Given the description of an element on the screen output the (x, y) to click on. 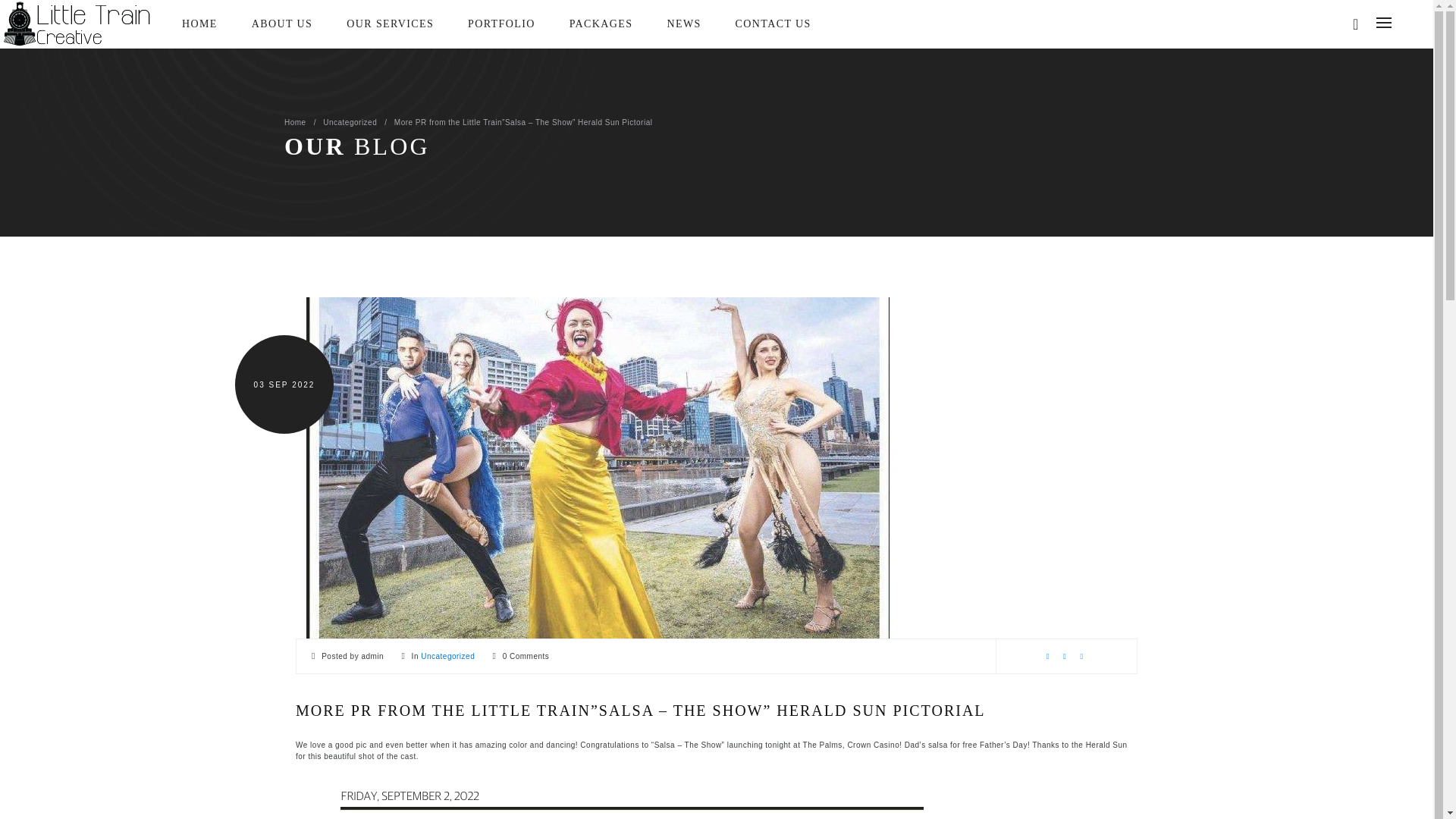
OUR SERVICES (389, 23)
Home (299, 121)
Uncategorized (447, 655)
CONTACT US (772, 23)
ABOUT US (282, 23)
HOME (199, 23)
PACKAGES (601, 23)
Uncategorized (355, 121)
NEWS (683, 23)
PORTFOLIO (501, 23)
